Given the description of an element on the screen output the (x, y) to click on. 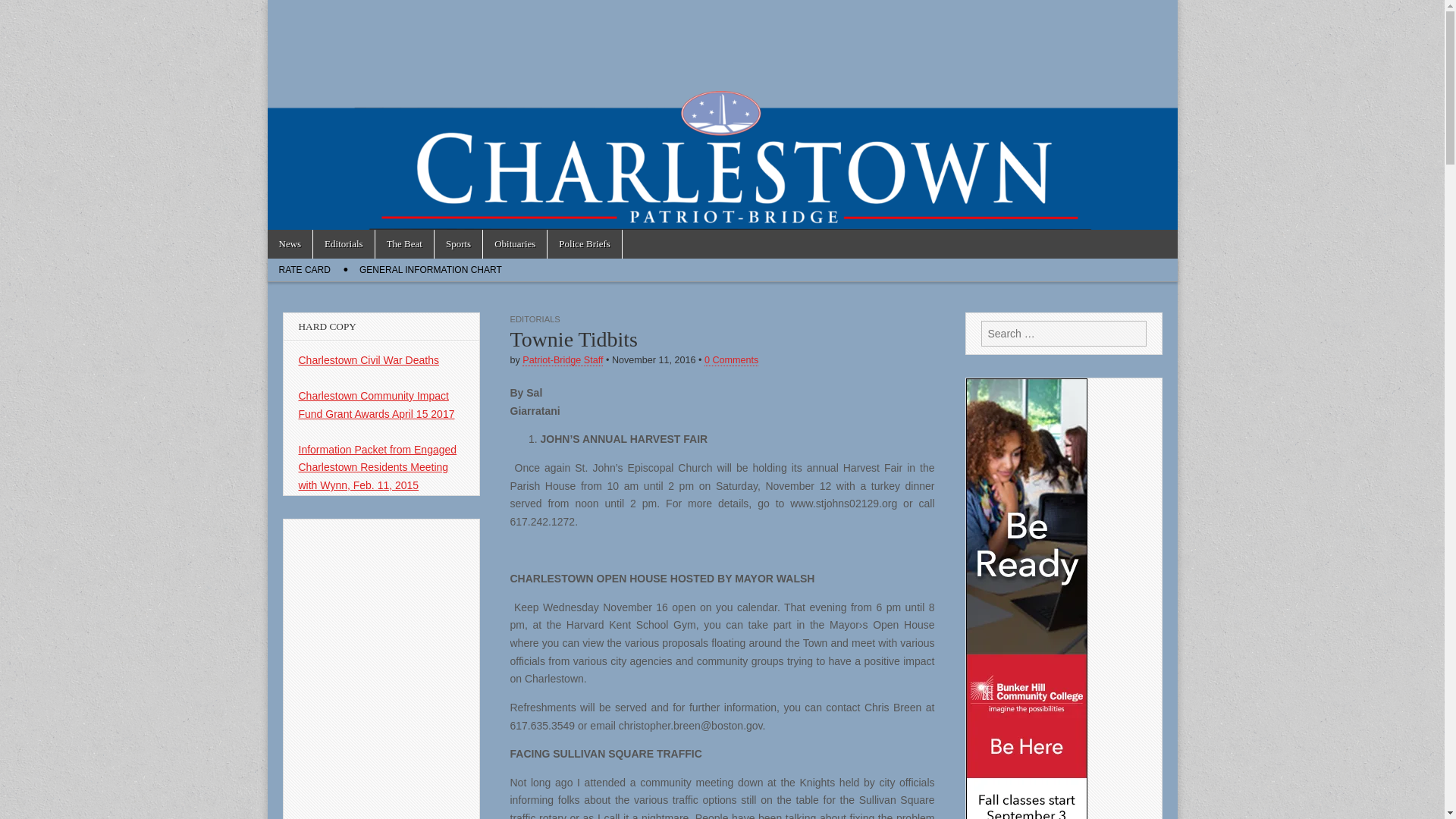
Sports (457, 244)
Charlestown Community Impact Fund Grant Awards April 15 2017 (376, 404)
Patriot-Bridge Staff (562, 360)
Obituaries (515, 244)
News (289, 244)
Posts by Patriot-Bridge Staff (562, 360)
0 Comments (731, 360)
Search (23, 12)
Editorials (343, 244)
RATE CARD (303, 269)
The Beat (404, 244)
GENERAL INFORMATION CHART (430, 269)
